Given the description of an element on the screen output the (x, y) to click on. 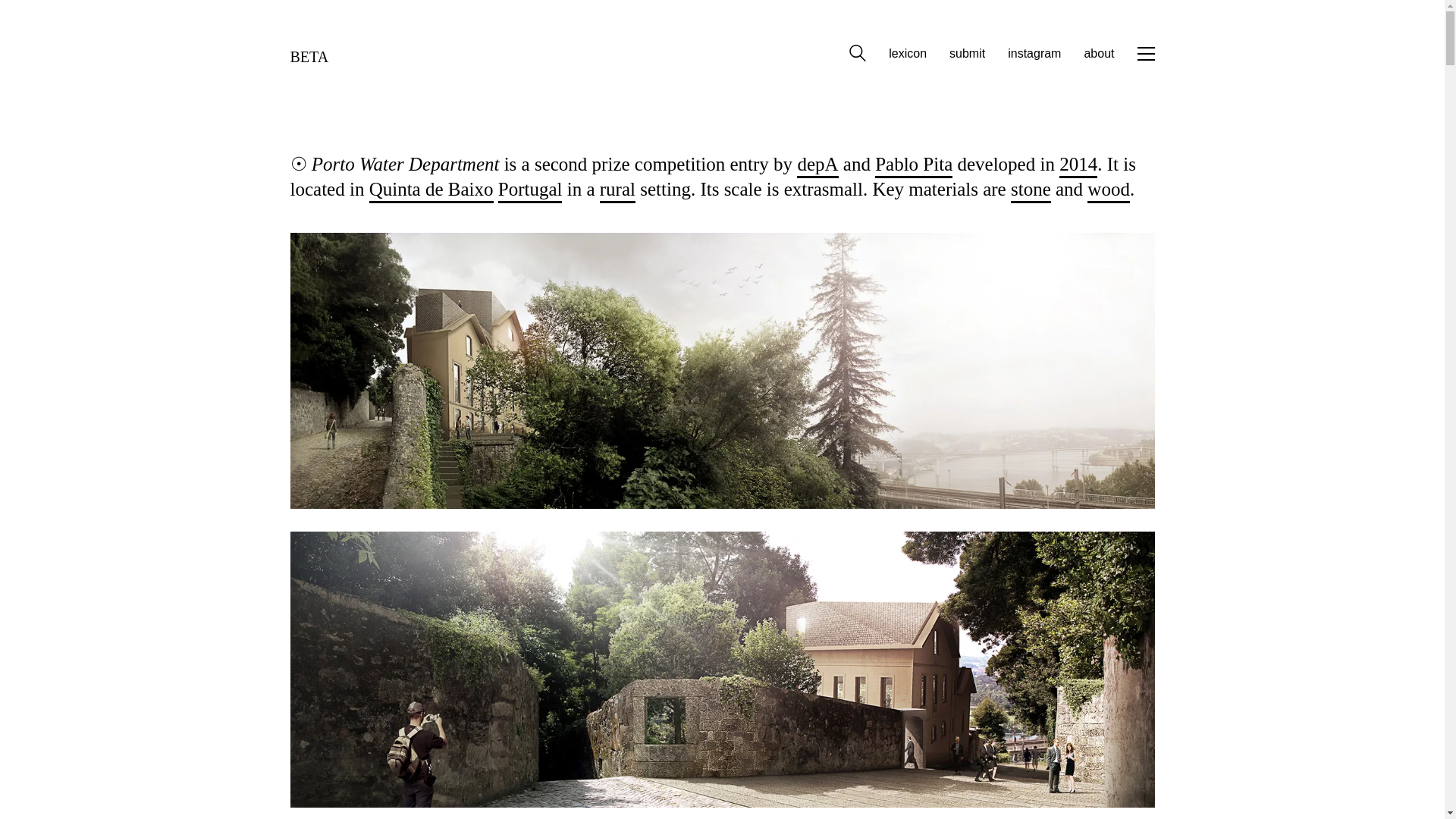
lexicon (907, 53)
Pablo Pita (913, 165)
2014 (1078, 165)
submit (967, 53)
Portugal (529, 190)
about (1098, 53)
BETA (309, 53)
Pablo Pita (913, 165)
wood (1108, 190)
wood's archive (1108, 190)
